Given the description of an element on the screen output the (x, y) to click on. 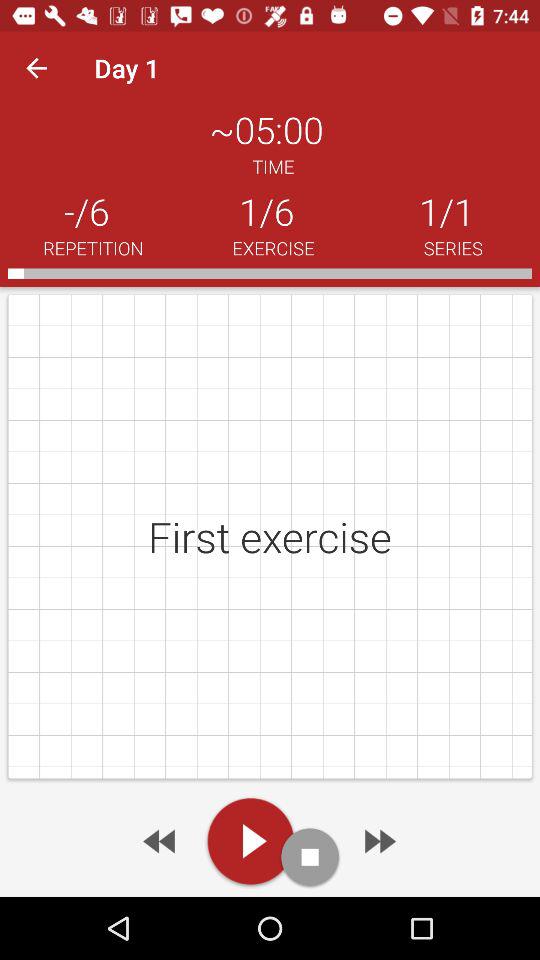
go forward (378, 841)
